Given the description of an element on the screen output the (x, y) to click on. 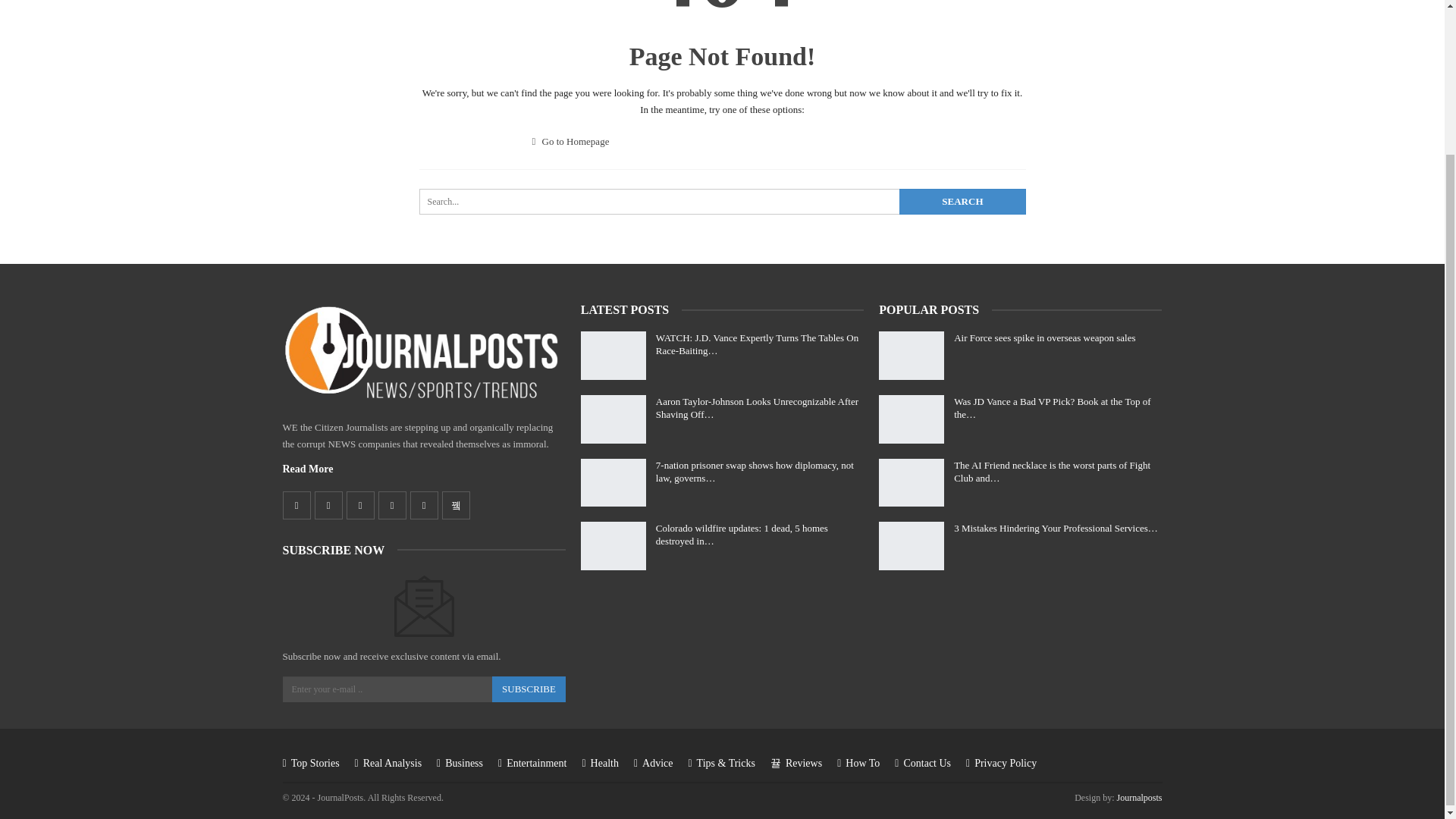
Read More (307, 469)
Search for: (722, 201)
Air Force sees spike in overseas weapon sales (911, 355)
Search (962, 201)
Search (962, 201)
Go to Homepage (571, 141)
SUBSCRIBE (529, 688)
Search (962, 201)
